Given the description of an element on the screen output the (x, y) to click on. 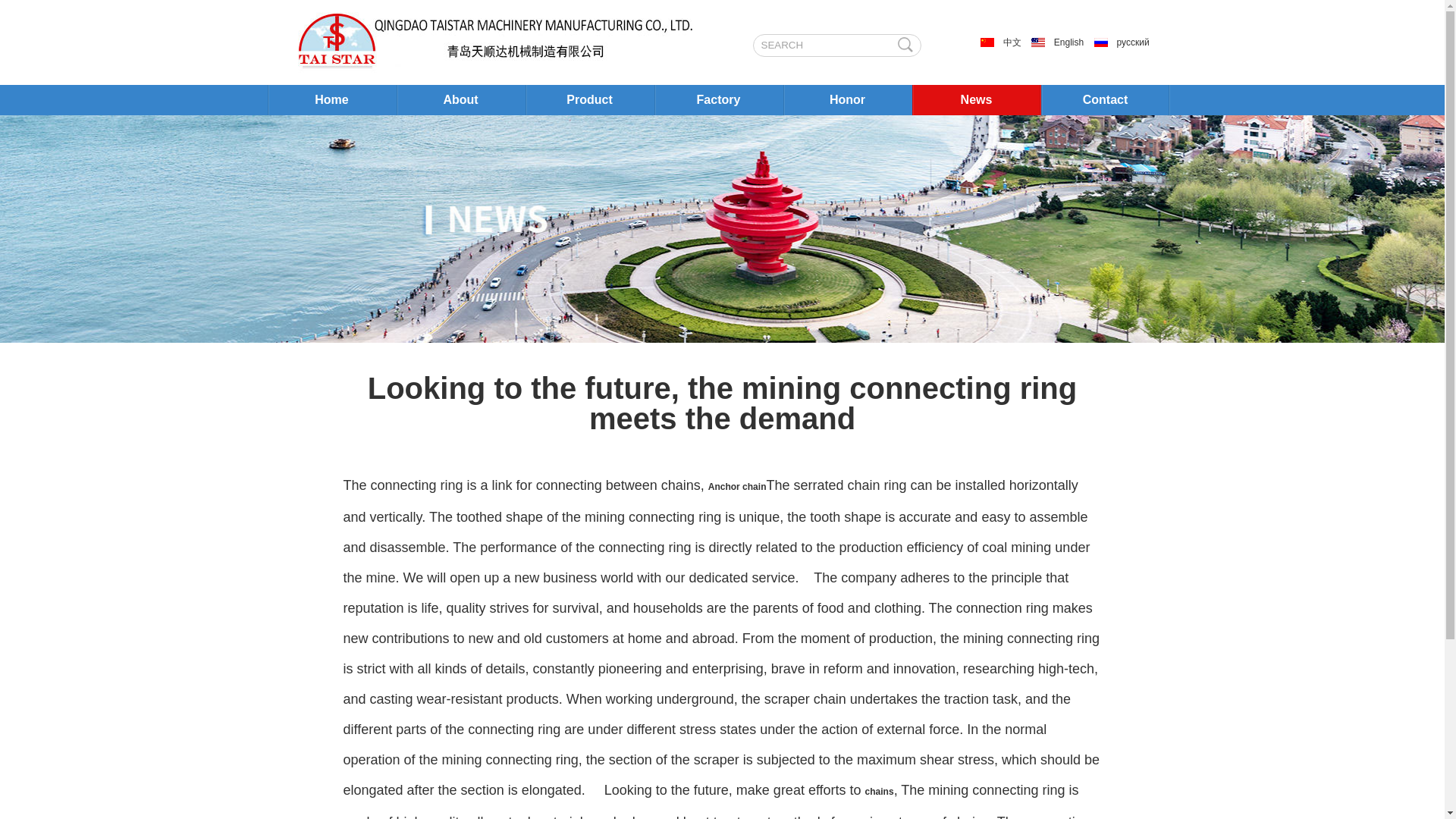
Home (331, 100)
Anchor chain (737, 486)
Factory (718, 100)
News (976, 100)
Contact (1105, 100)
English (1060, 41)
Honor (847, 100)
About (460, 100)
chains (878, 791)
SEARCH (818, 45)
Product (588, 100)
